Given the description of an element on the screen output the (x, y) to click on. 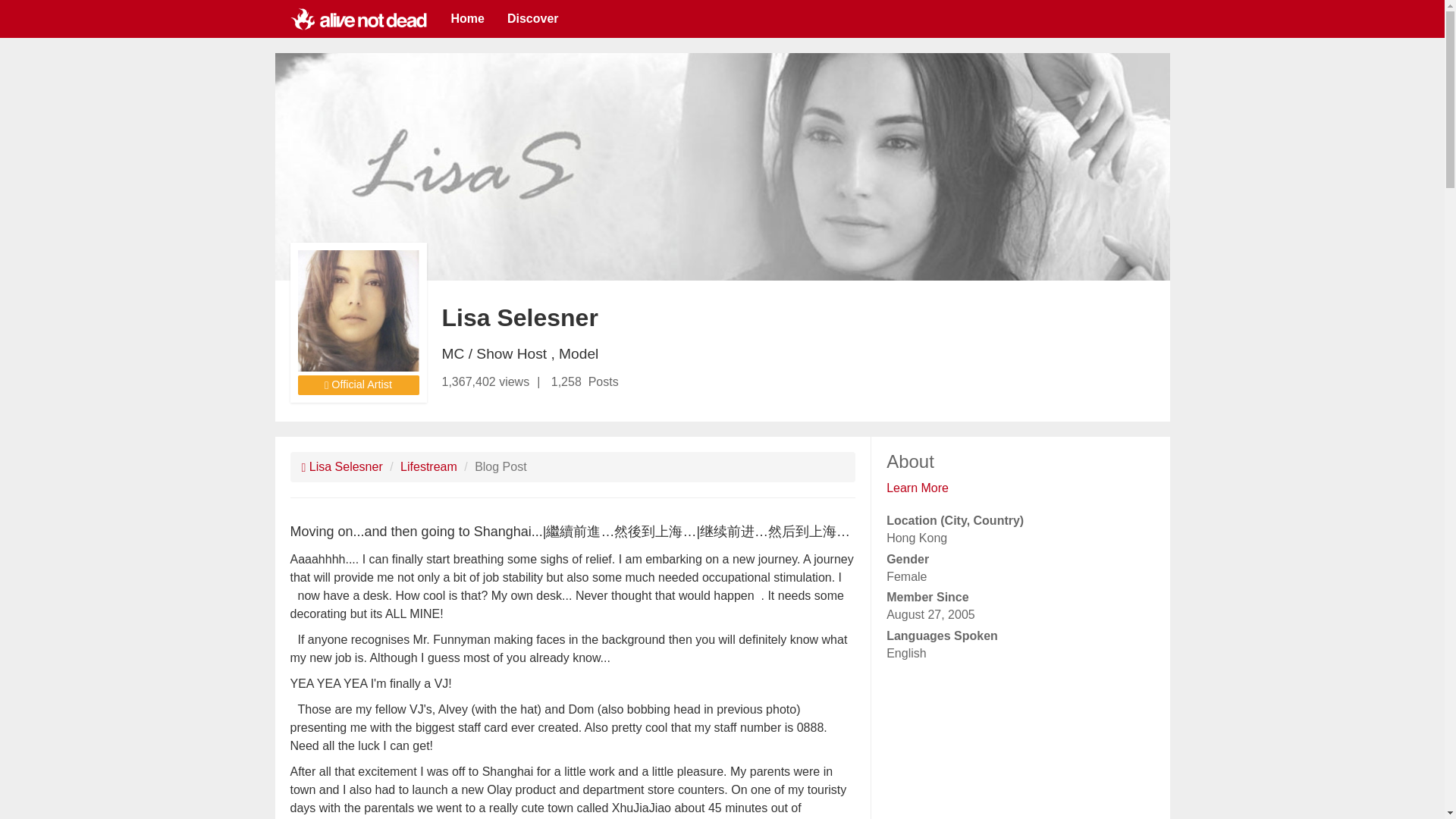
Home (467, 18)
Lisa Selesner (341, 466)
Discover (533, 18)
Lifestream (428, 466)
